Given the description of an element on the screen output the (x, y) to click on. 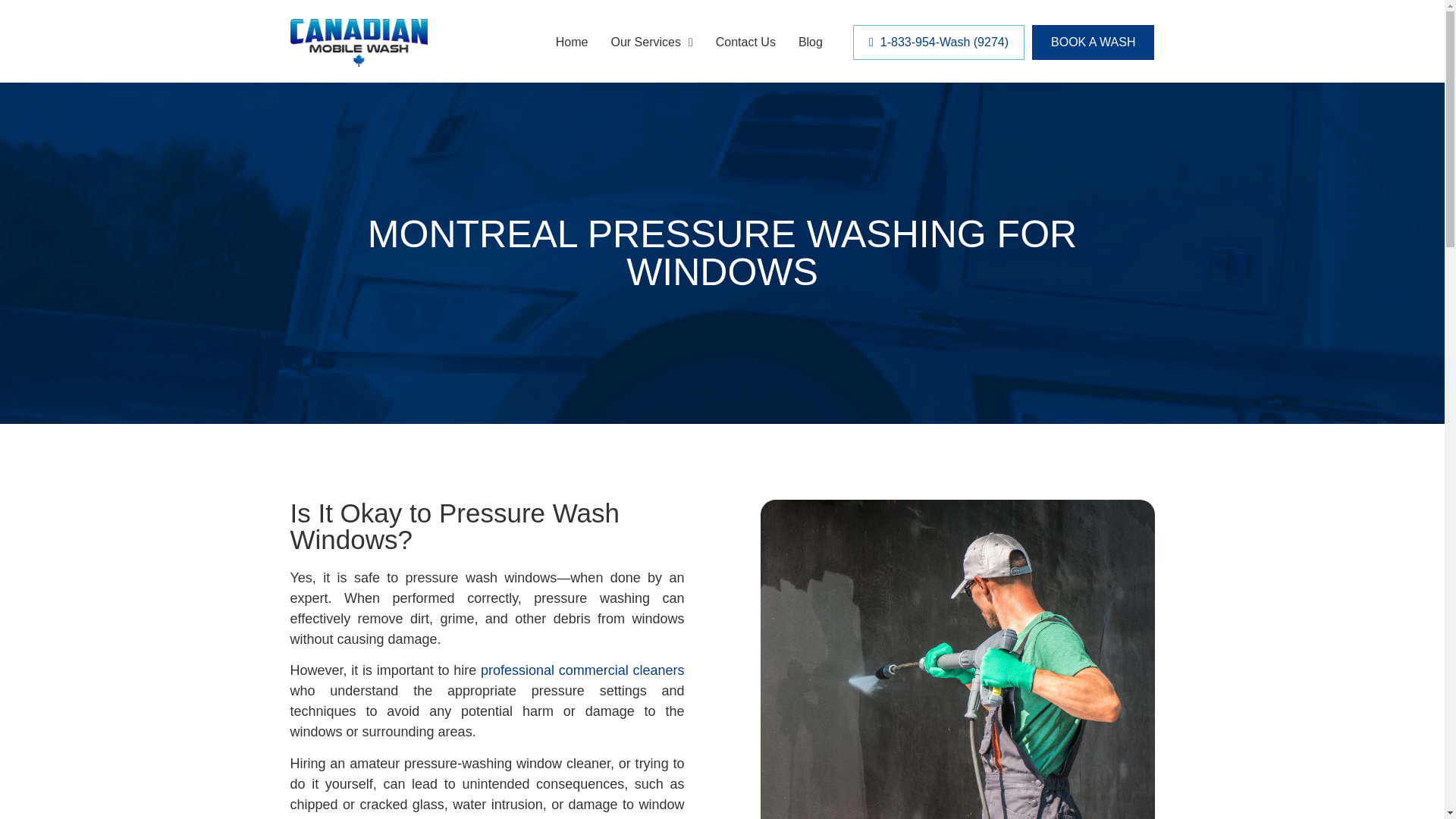
BOOK A WASH (1093, 42)
Contact Us (746, 42)
Home (572, 42)
Our Services (651, 42)
